Given the description of an element on the screen output the (x, y) to click on. 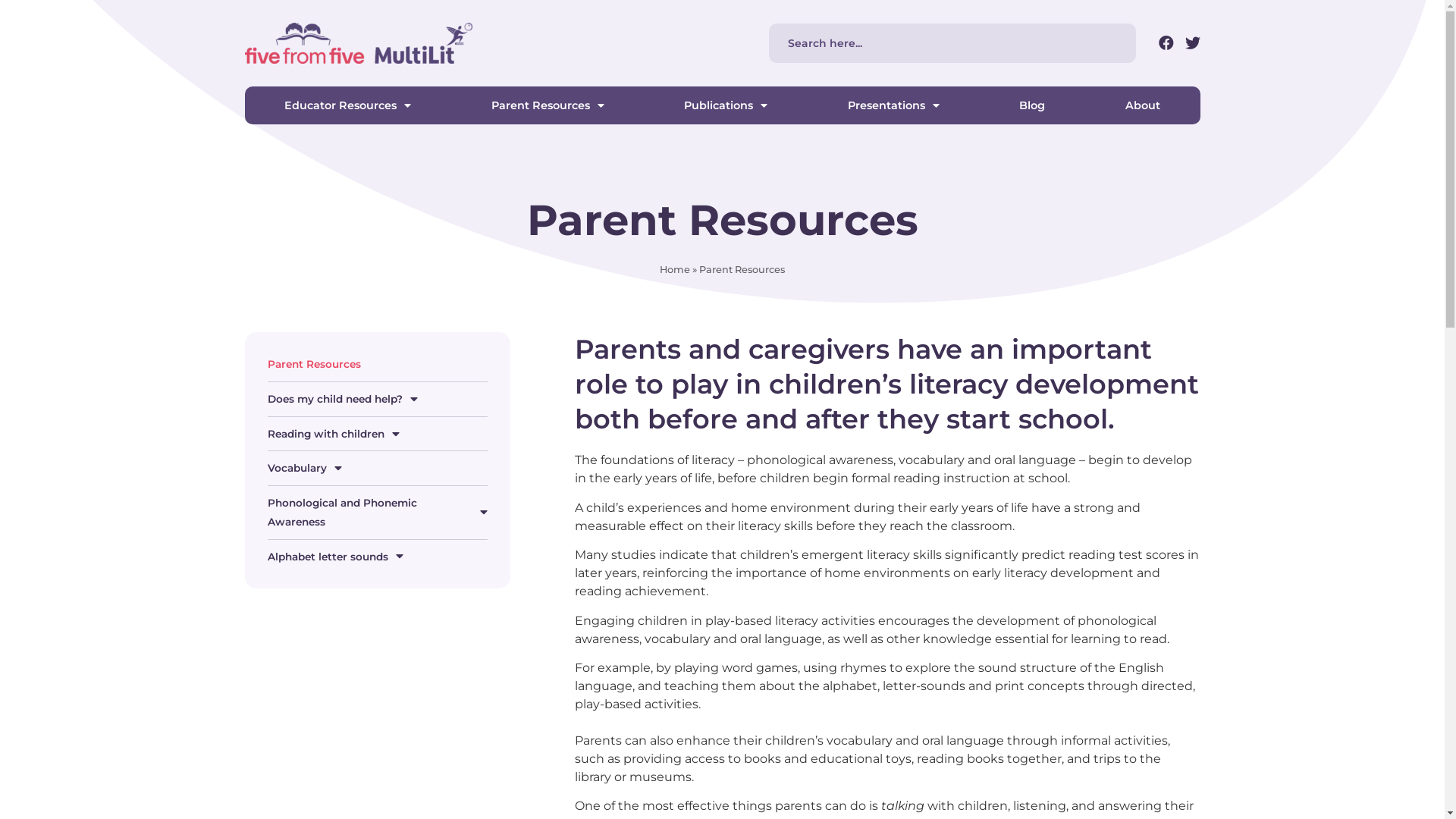
Alphabet letter sounds Element type: text (376, 556)
Presentations Element type: text (893, 105)
Home Element type: text (674, 269)
Educator Resources Element type: text (347, 105)
Reading with children Element type: text (376, 434)
Phonological and Phonemic Awareness Element type: text (376, 512)
Blog Element type: text (1032, 105)
Publications Element type: text (726, 105)
Vocabulary Element type: text (376, 468)
Parent Resources Element type: text (376, 364)
Parent Resources Element type: text (547, 105)
Does my child need help? Element type: text (376, 399)
About Element type: text (1142, 105)
